Given the description of an element on the screen output the (x, y) to click on. 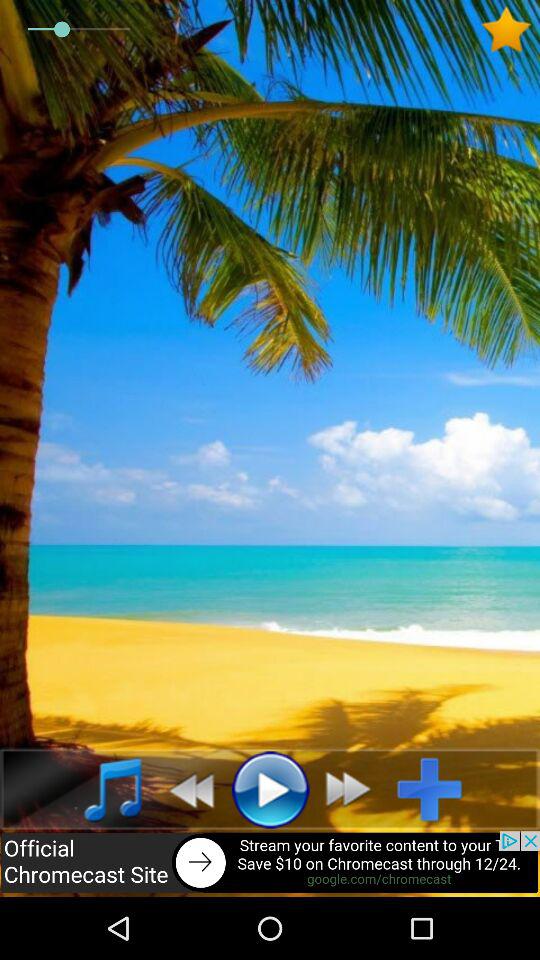
fast forward (353, 789)
